Given the description of an element on the screen output the (x, y) to click on. 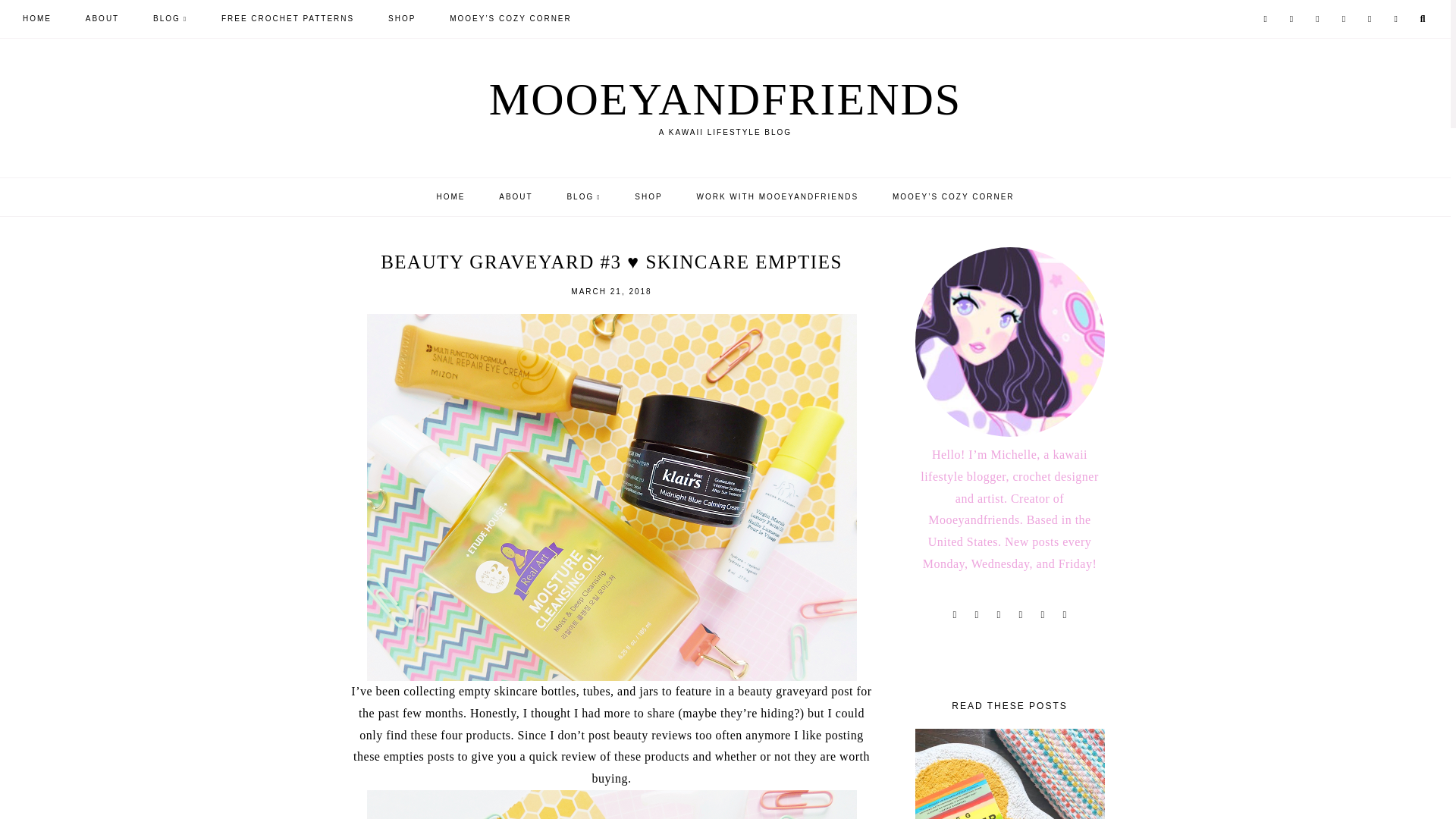
BLOG (169, 18)
Skincare Empties (611, 804)
FREE CROCHET PATTERNS (287, 18)
